Given the description of an element on the screen output the (x, y) to click on. 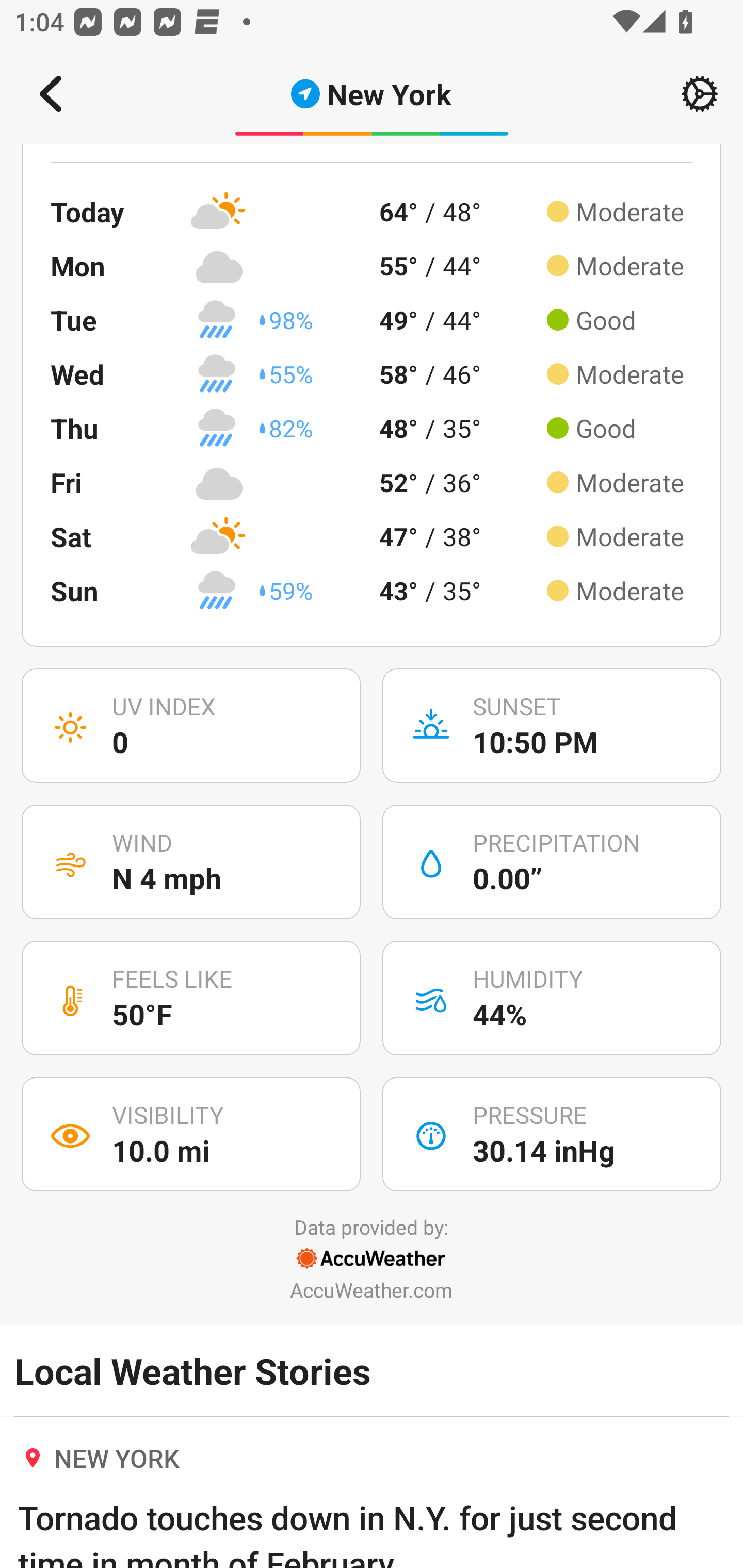
Navigate up (50, 93)
Setting (699, 93)
